Given the description of an element on the screen output the (x, y) to click on. 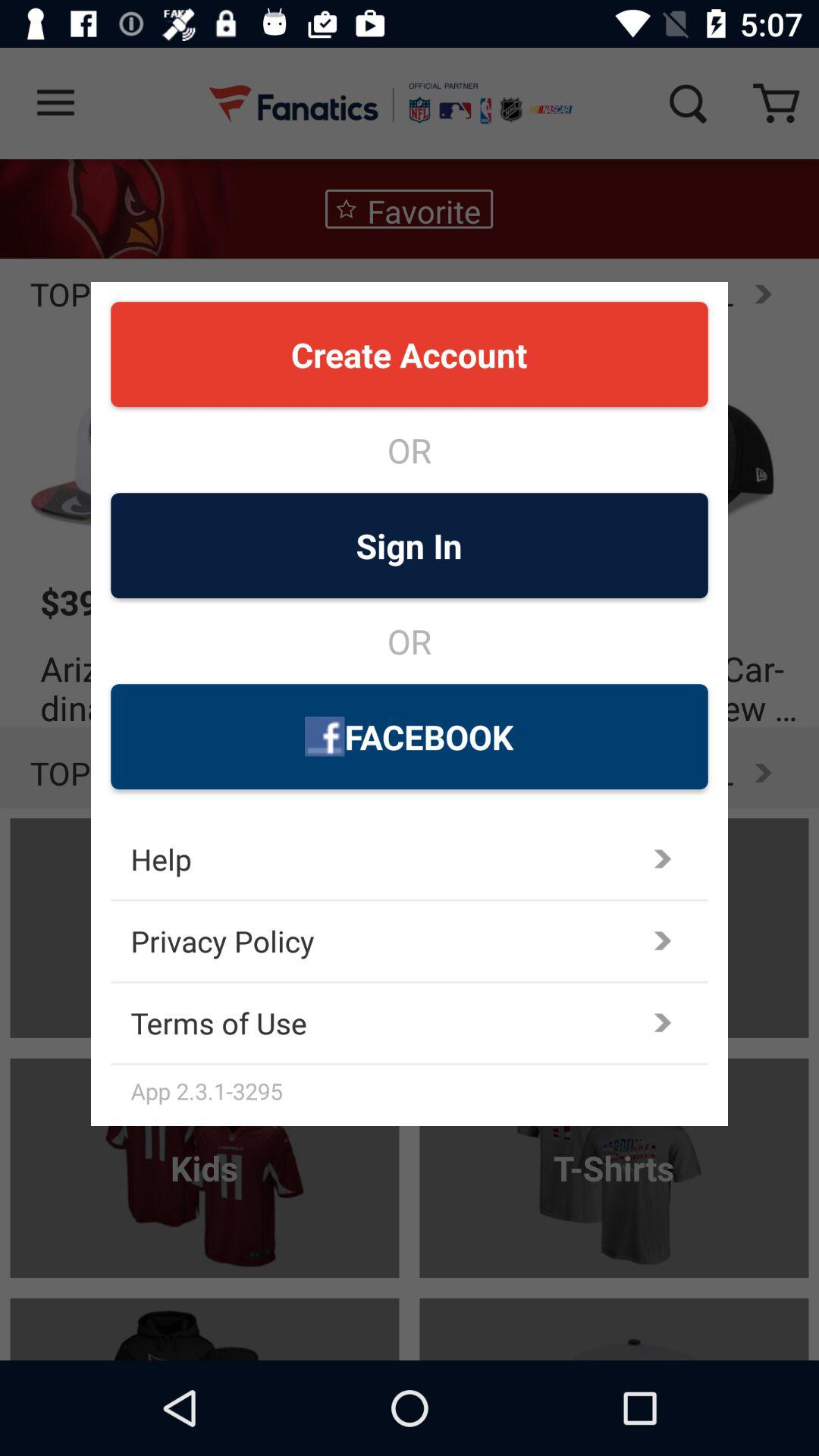
turn on the app 2 3 icon (419, 1090)
